Given the description of an element on the screen output the (x, y) to click on. 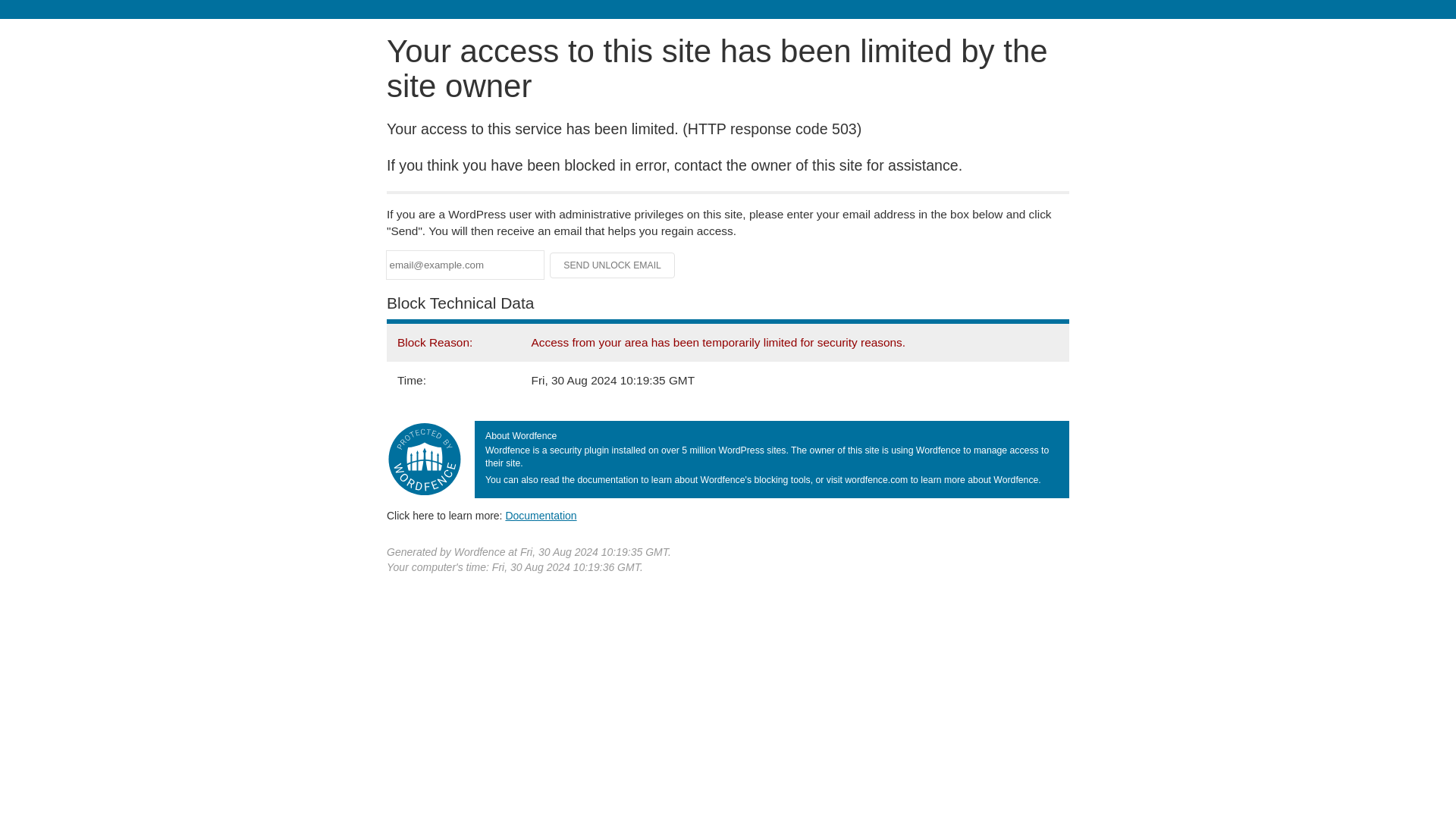
Documentation (540, 515)
Send Unlock Email (612, 265)
Send Unlock Email (612, 265)
